Given the description of an element on the screen output the (x, y) to click on. 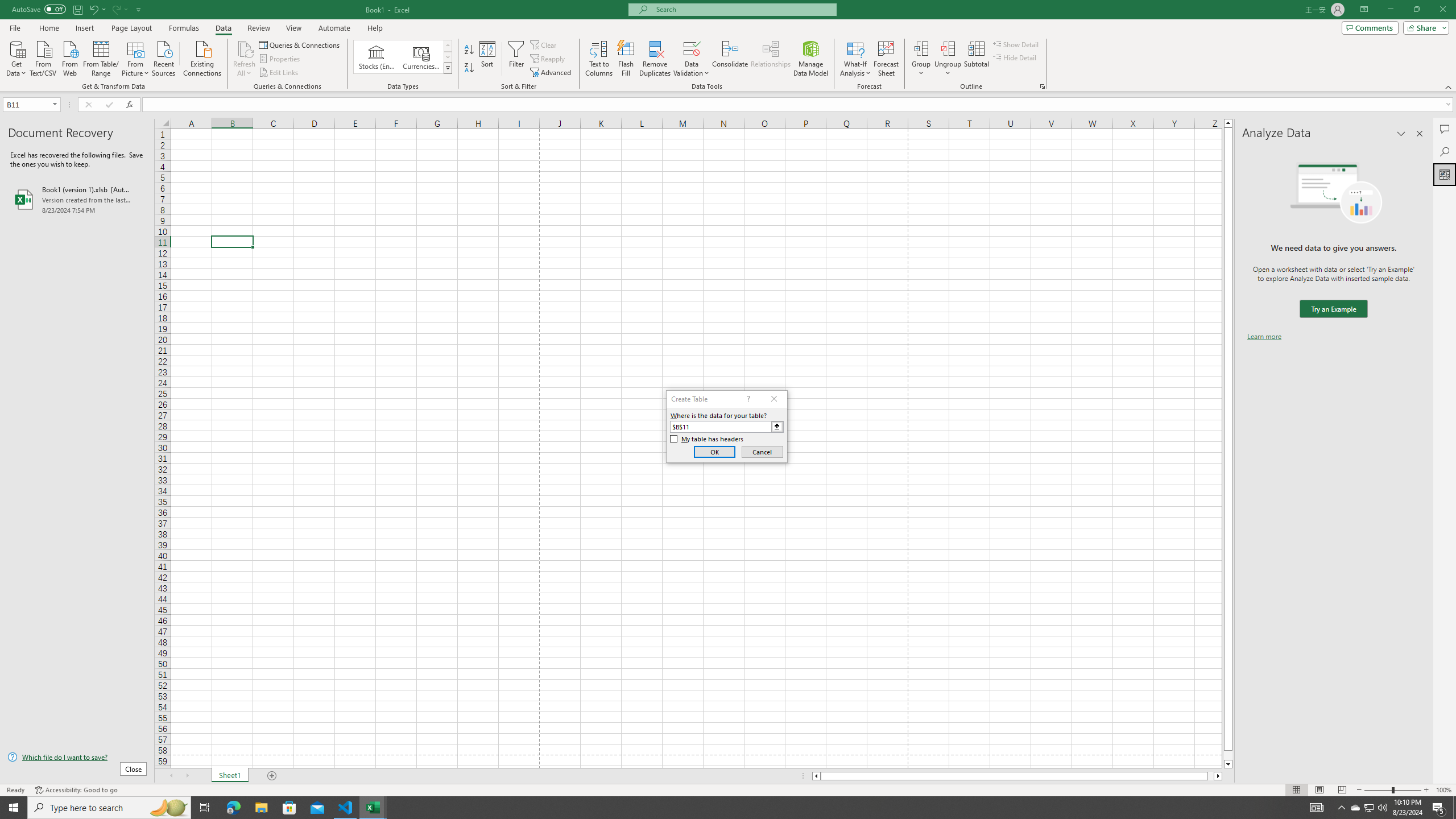
Filter (515, 58)
Queries & Connections (300, 44)
Undo (92, 9)
